Given the description of an element on the screen output the (x, y) to click on. 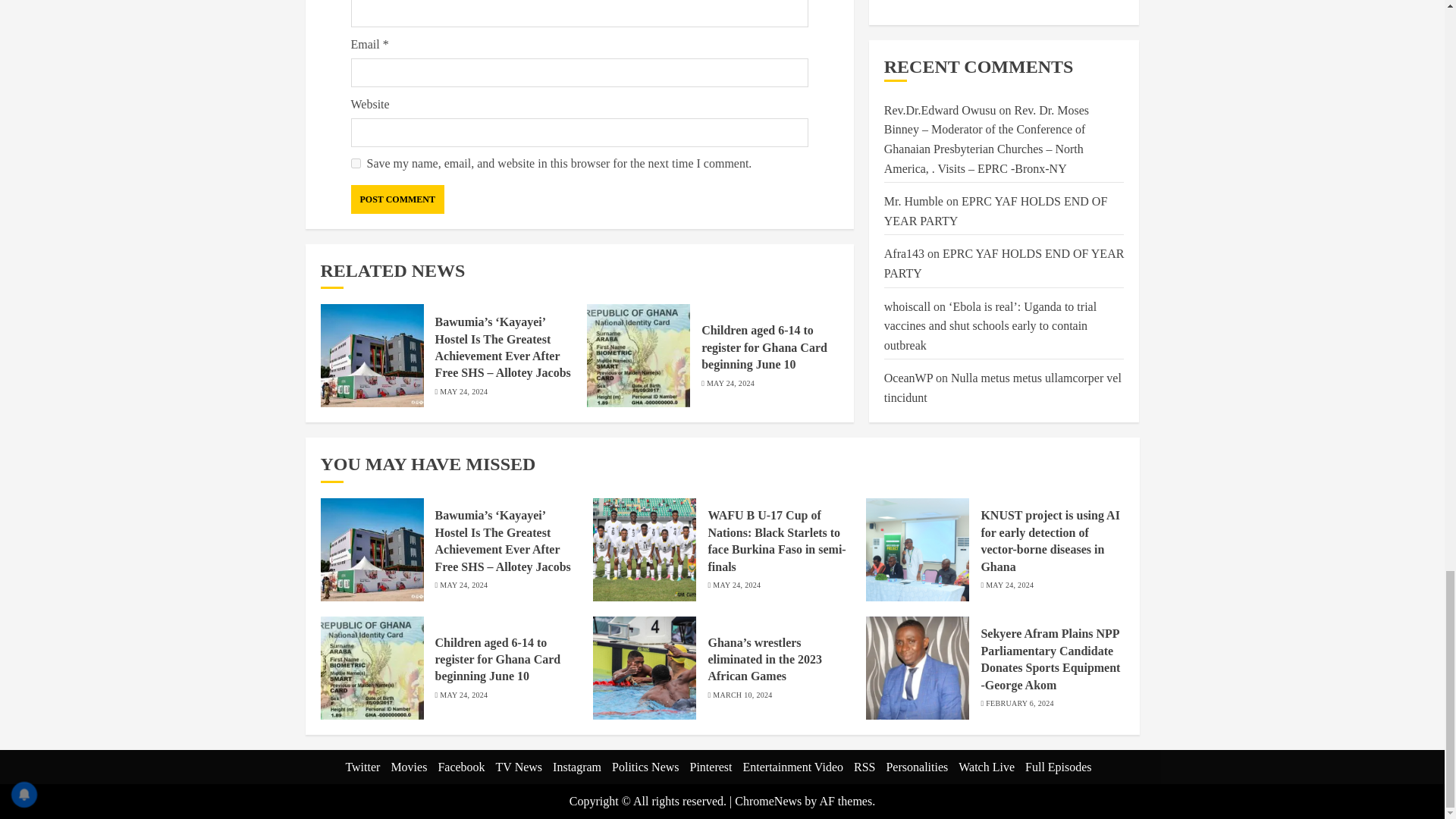
yes (354, 163)
Post Comment (397, 199)
